Given the description of an element on the screen output the (x, y) to click on. 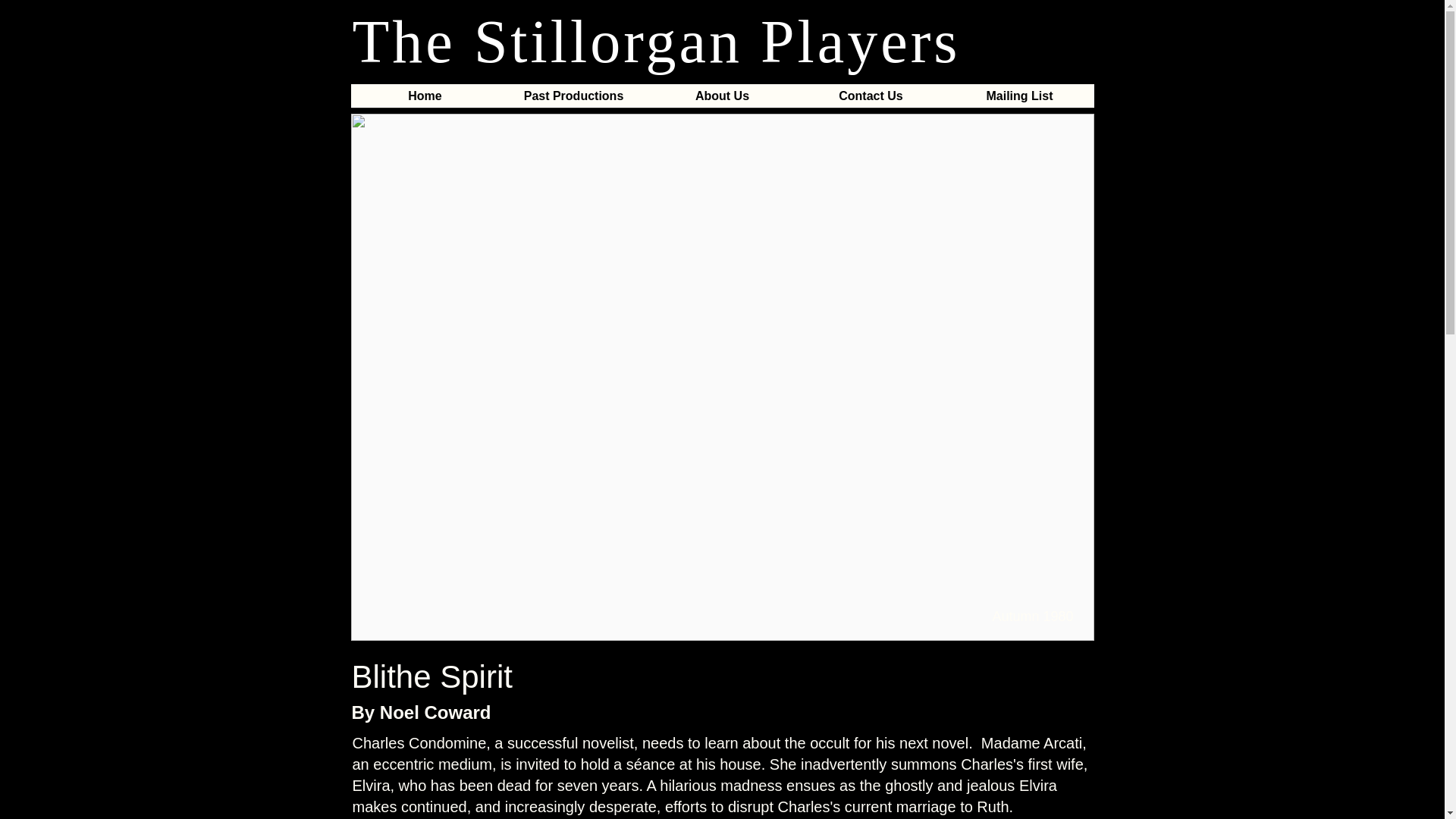
Home (424, 100)
The Stillorgan Players (655, 41)
Mailing List (1018, 100)
Contact Us (870, 100)
Past Productions (573, 100)
About Us (721, 100)
